Given the description of an element on the screen output the (x, y) to click on. 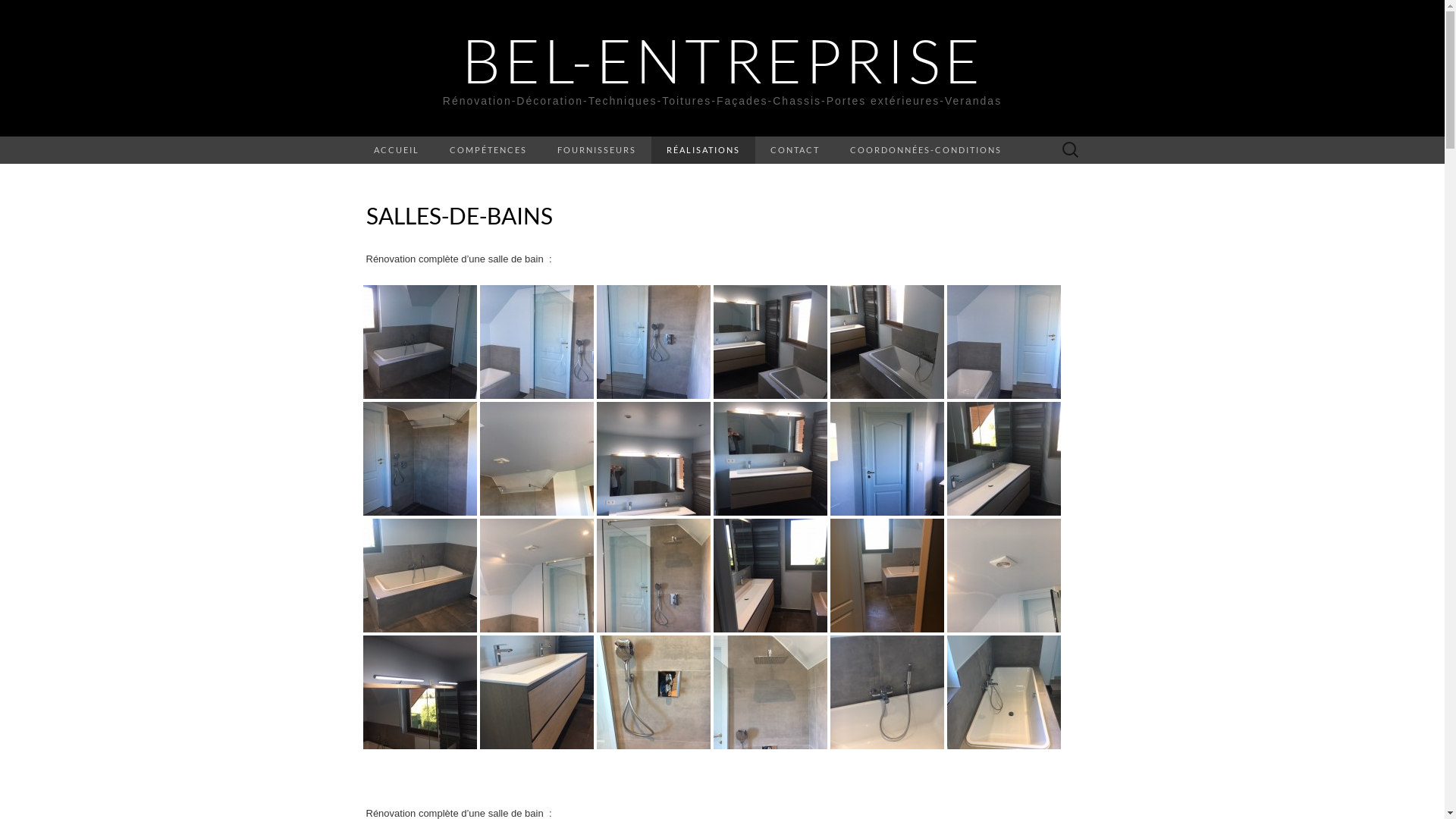
FOURNISSEURS Element type: text (595, 149)
ACCUEIL Element type: text (395, 149)
CONTACT Element type: text (794, 149)
Rechercher Element type: text (15, 12)
